Given the description of an element on the screen output the (x, y) to click on. 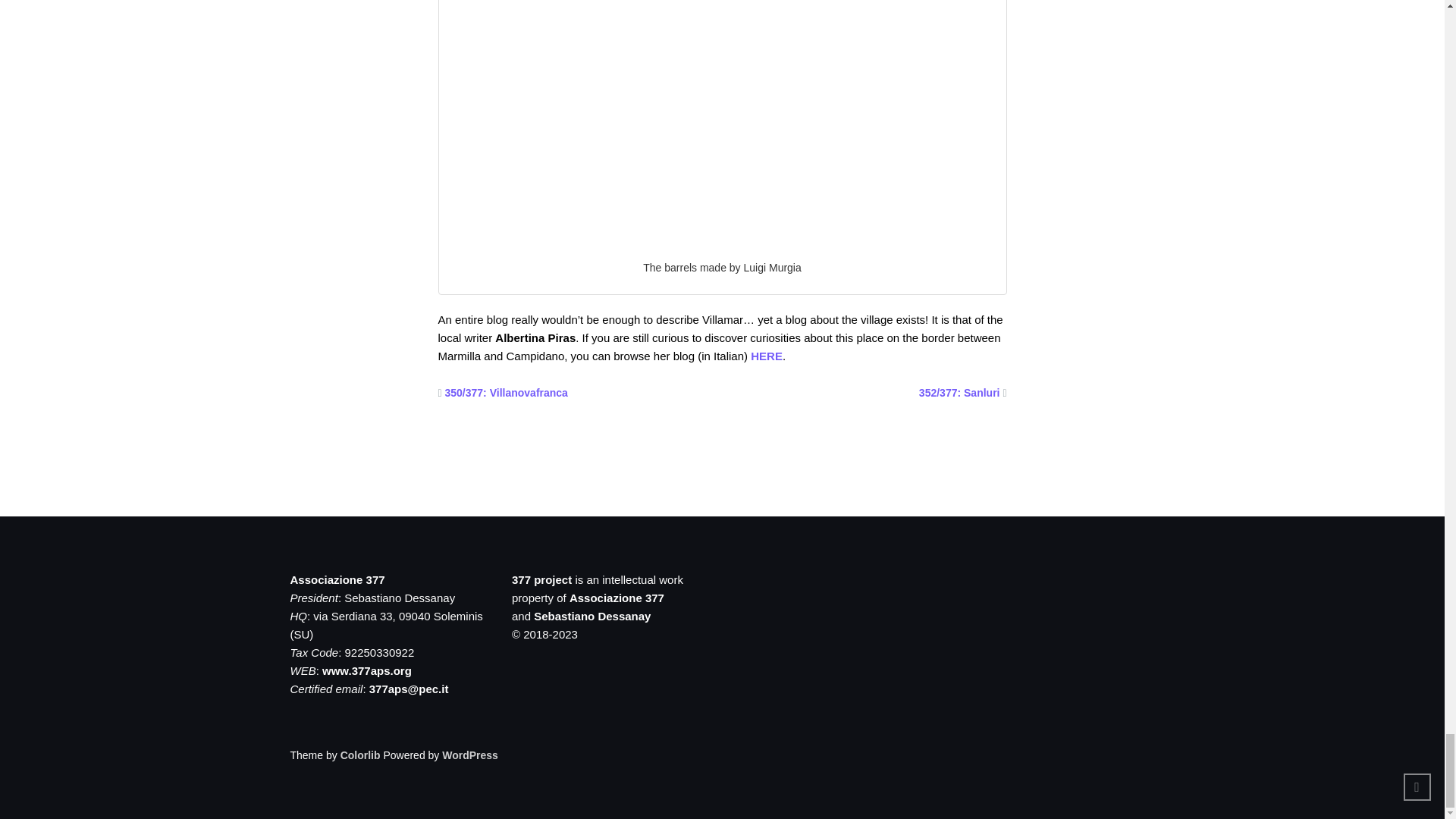
Colorlib (360, 755)
HERE (767, 355)
Sebastiano Dessanay (592, 615)
Associazione 377 (616, 597)
WordPress (469, 755)
www.377aps.org (366, 670)
Colorlib (360, 755)
WordPress.org (469, 755)
